Given the description of an element on the screen output the (x, y) to click on. 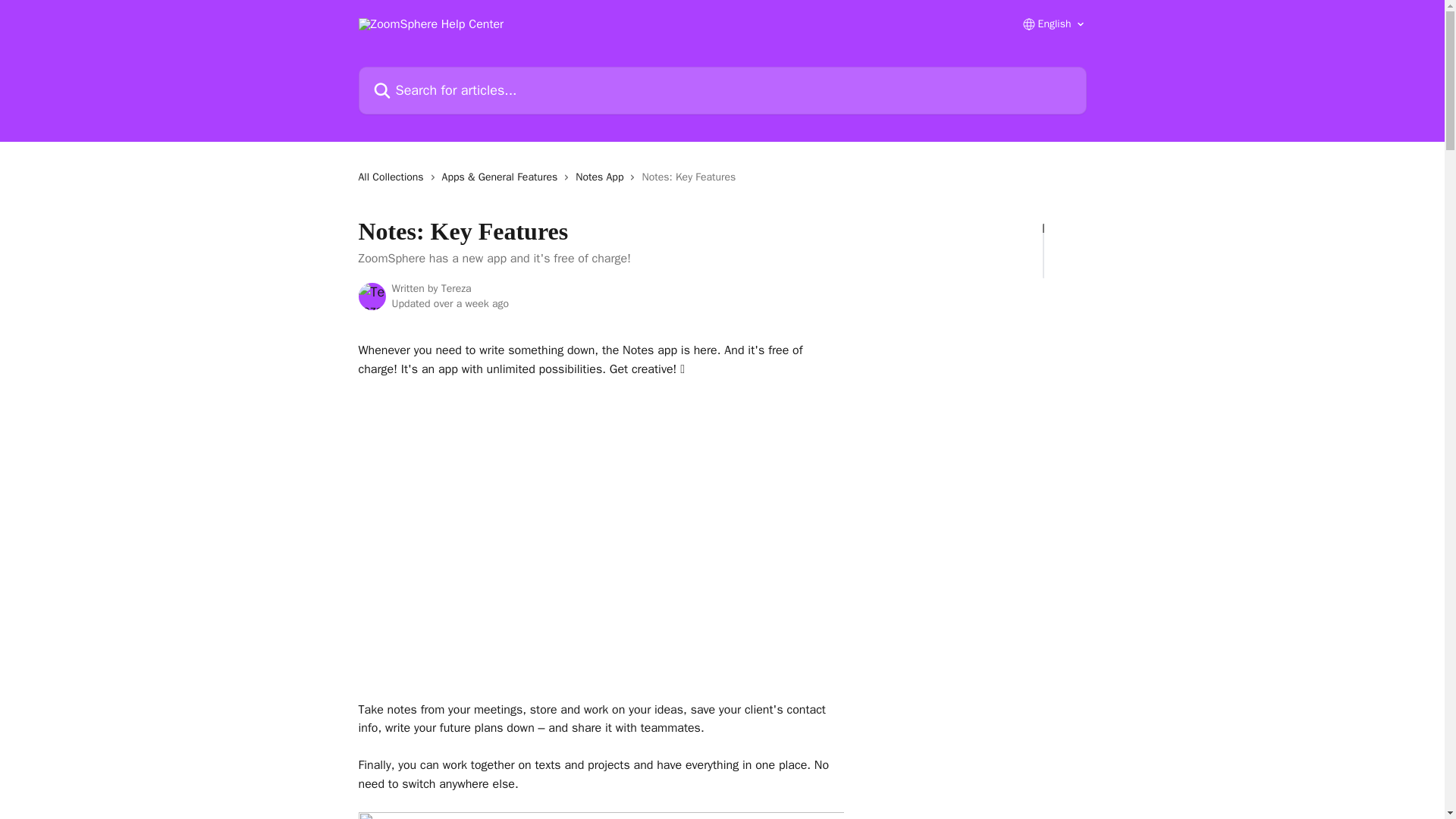
All Collections (393, 176)
Notes App (601, 176)
